Given the description of an element on the screen output the (x, y) to click on. 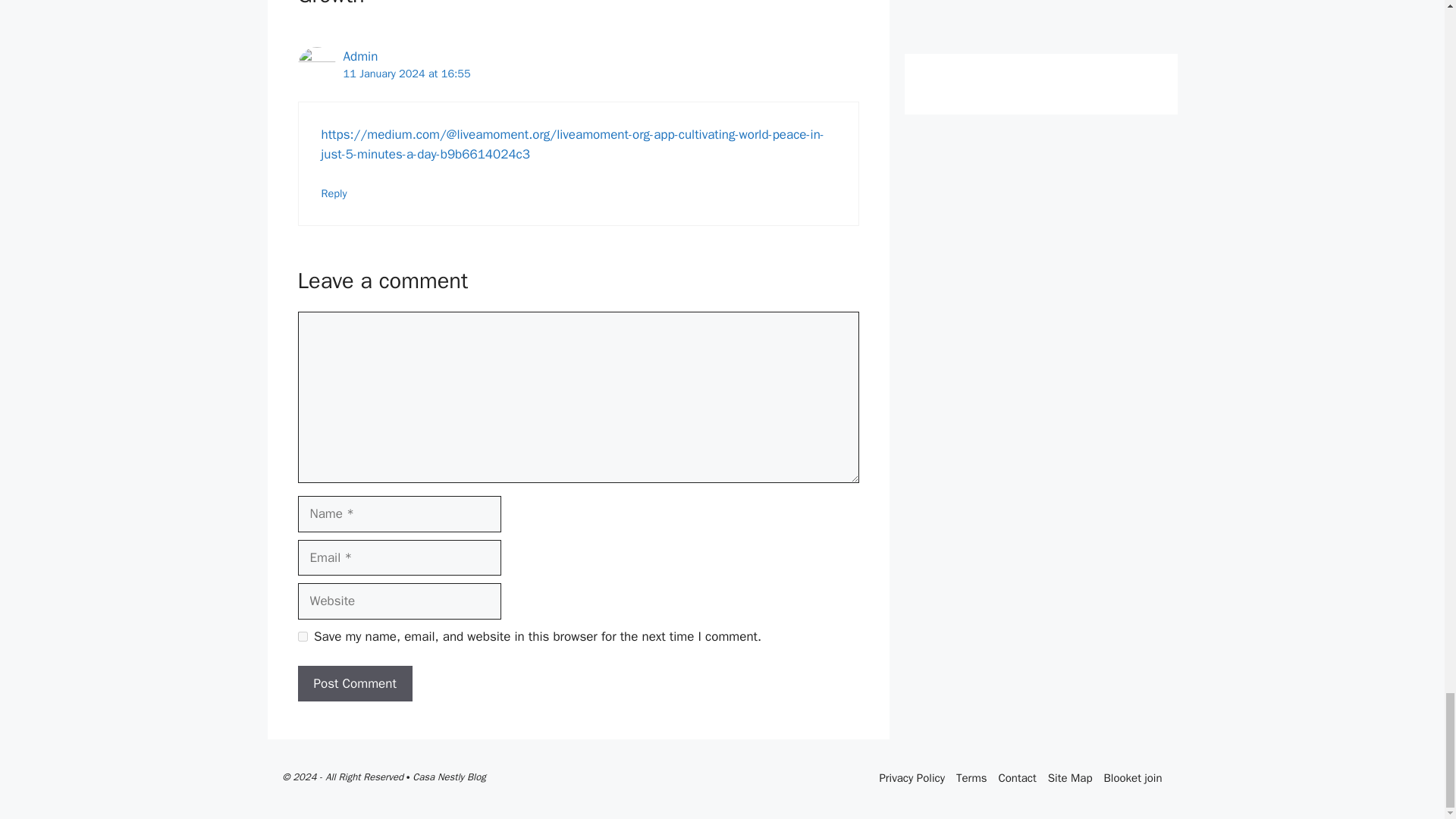
Reply (334, 192)
yes (302, 636)
Post Comment (354, 683)
11 January 2024 at 16:55 (406, 73)
Admin (359, 56)
Post Comment (354, 683)
Casa Nestly Blog (448, 776)
